Given the description of an element on the screen output the (x, y) to click on. 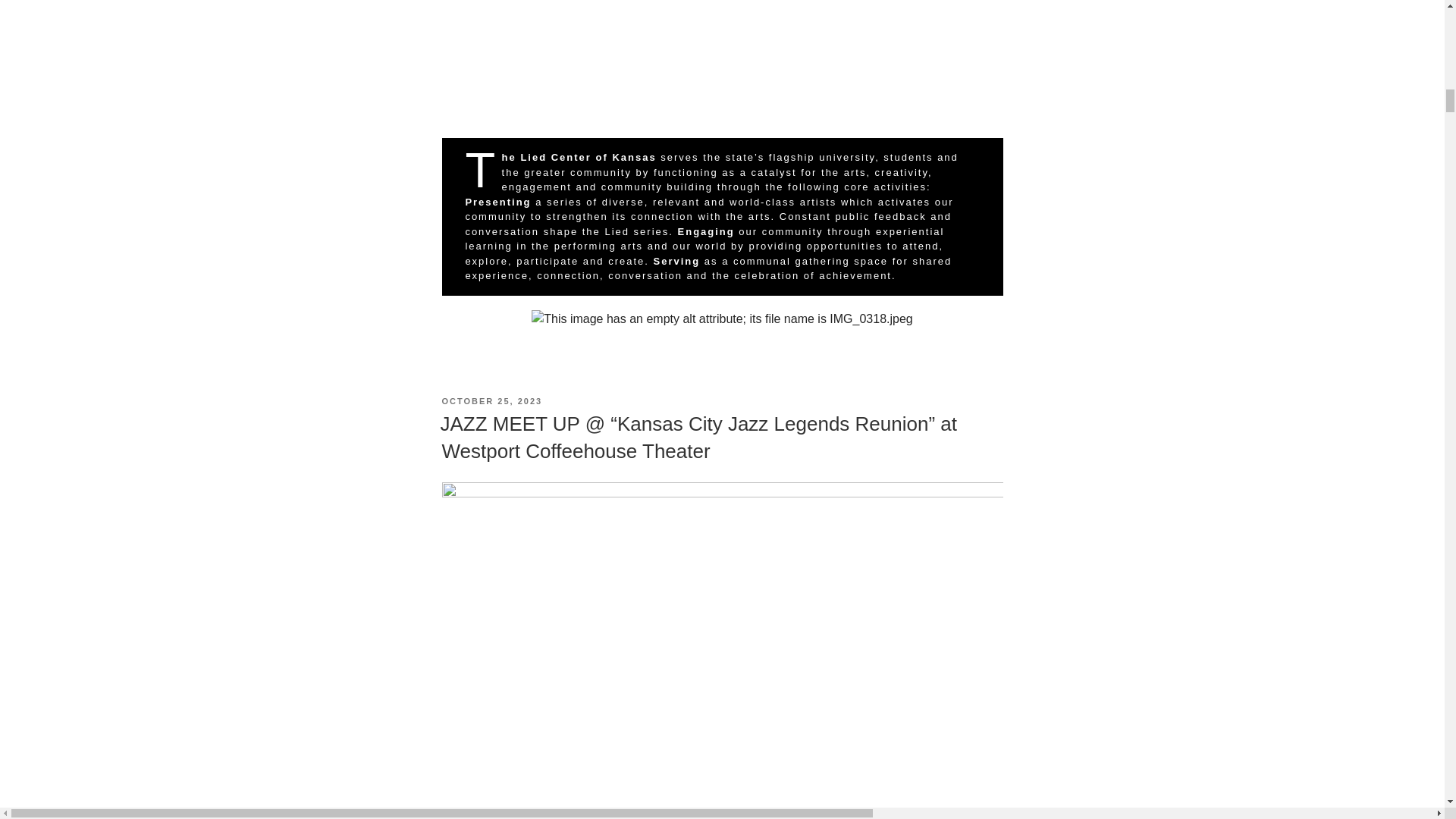
OCTOBER 25, 2023 (491, 400)
